Given the description of an element on the screen output the (x, y) to click on. 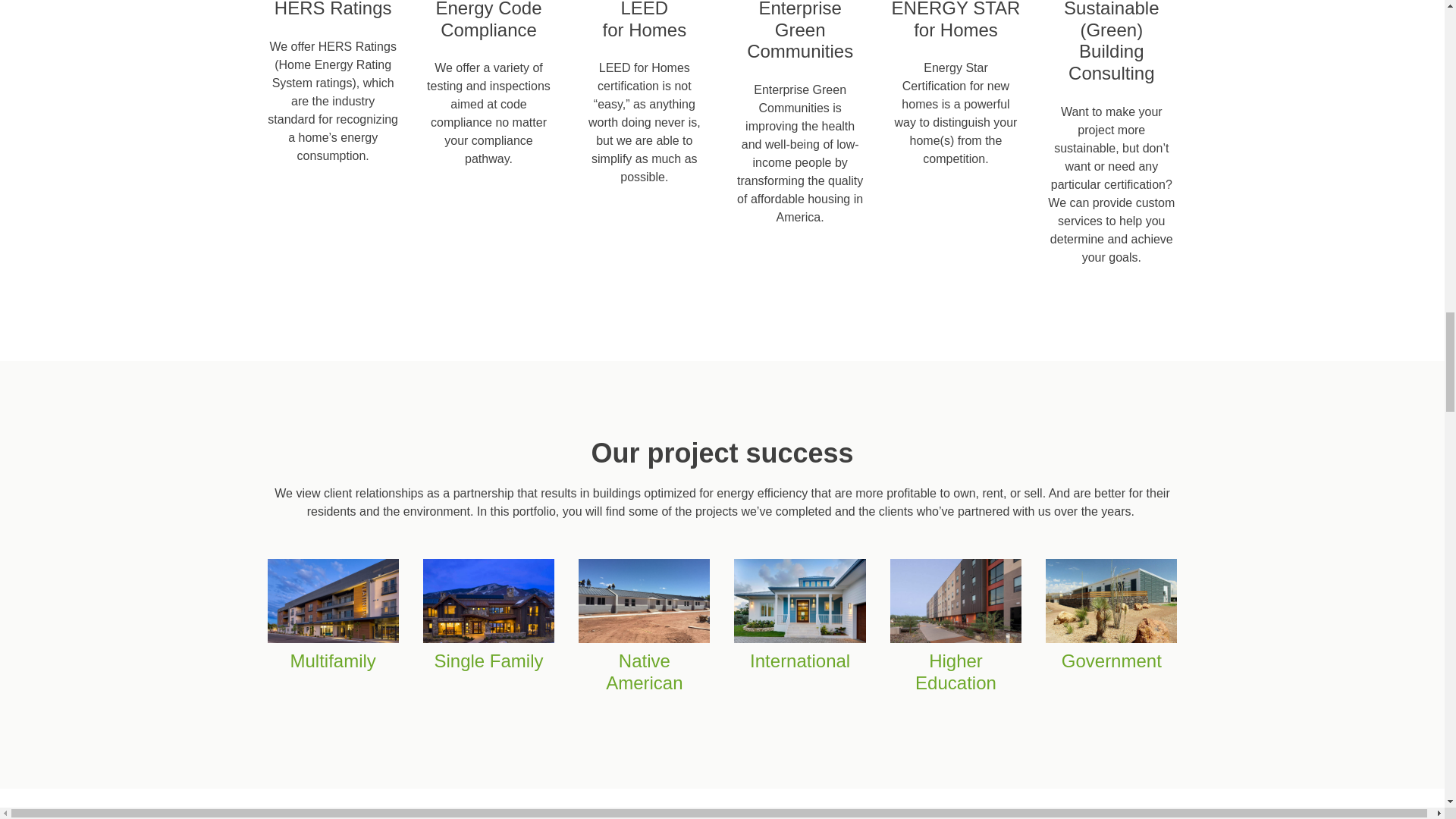
LEED for Homes (643, 20)
Enterprise Green Communities (799, 31)
HERS Ratings (333, 9)
Energy Code Compliance (488, 20)
